Given the description of an element on the screen output the (x, y) to click on. 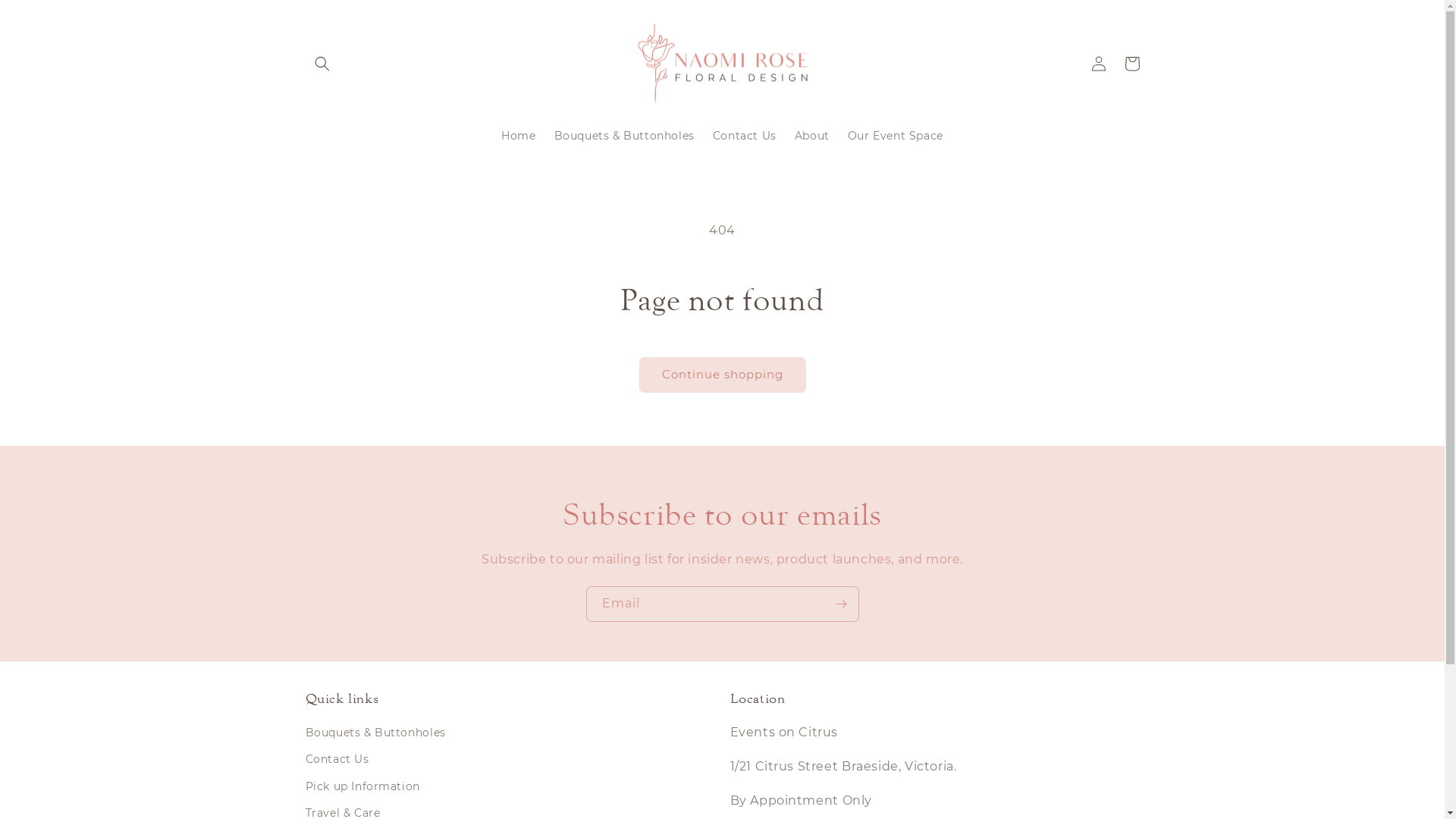
About Element type: text (811, 135)
Home Element type: text (518, 135)
Bouquets & Buttonholes Element type: text (624, 135)
Cart Element type: text (1131, 63)
Continue shopping Element type: text (721, 374)
Contact Us Element type: text (744, 135)
Log in Element type: text (1097, 63)
Pick up Information Element type: text (361, 786)
Our Event Space Element type: text (895, 135)
Bouquets & Buttonholes Element type: text (374, 734)
Contact Us Element type: text (336, 759)
